Given the description of an element on the screen output the (x, y) to click on. 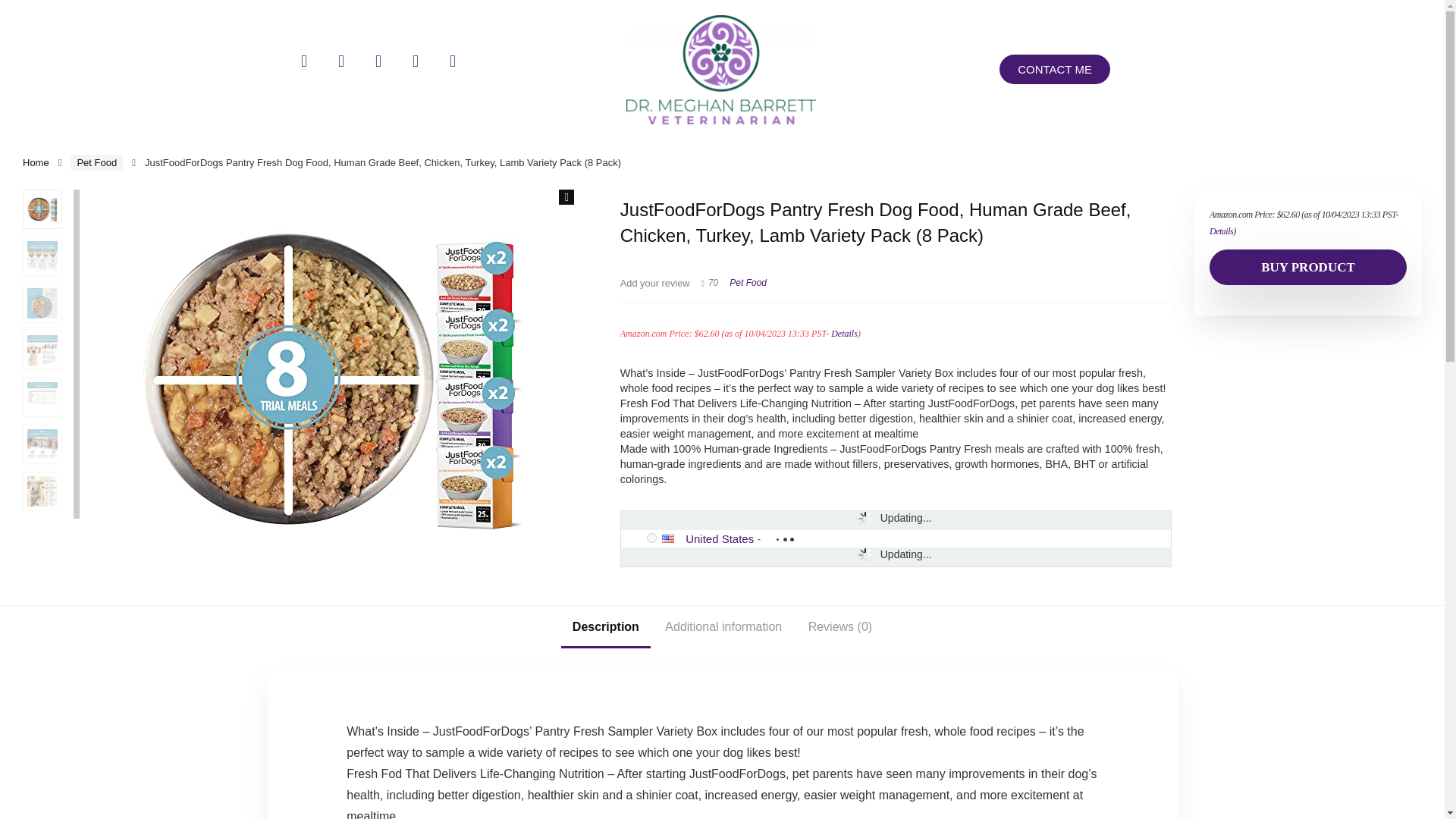
United States (719, 538)
BUY PRODUCT (1307, 267)
Add your review (655, 283)
View all posts in Pet Food (748, 282)
Pet Food (95, 162)
Home (36, 162)
on (651, 537)
United States (673, 538)
Details (844, 333)
